Given the description of an element on the screen output the (x, y) to click on. 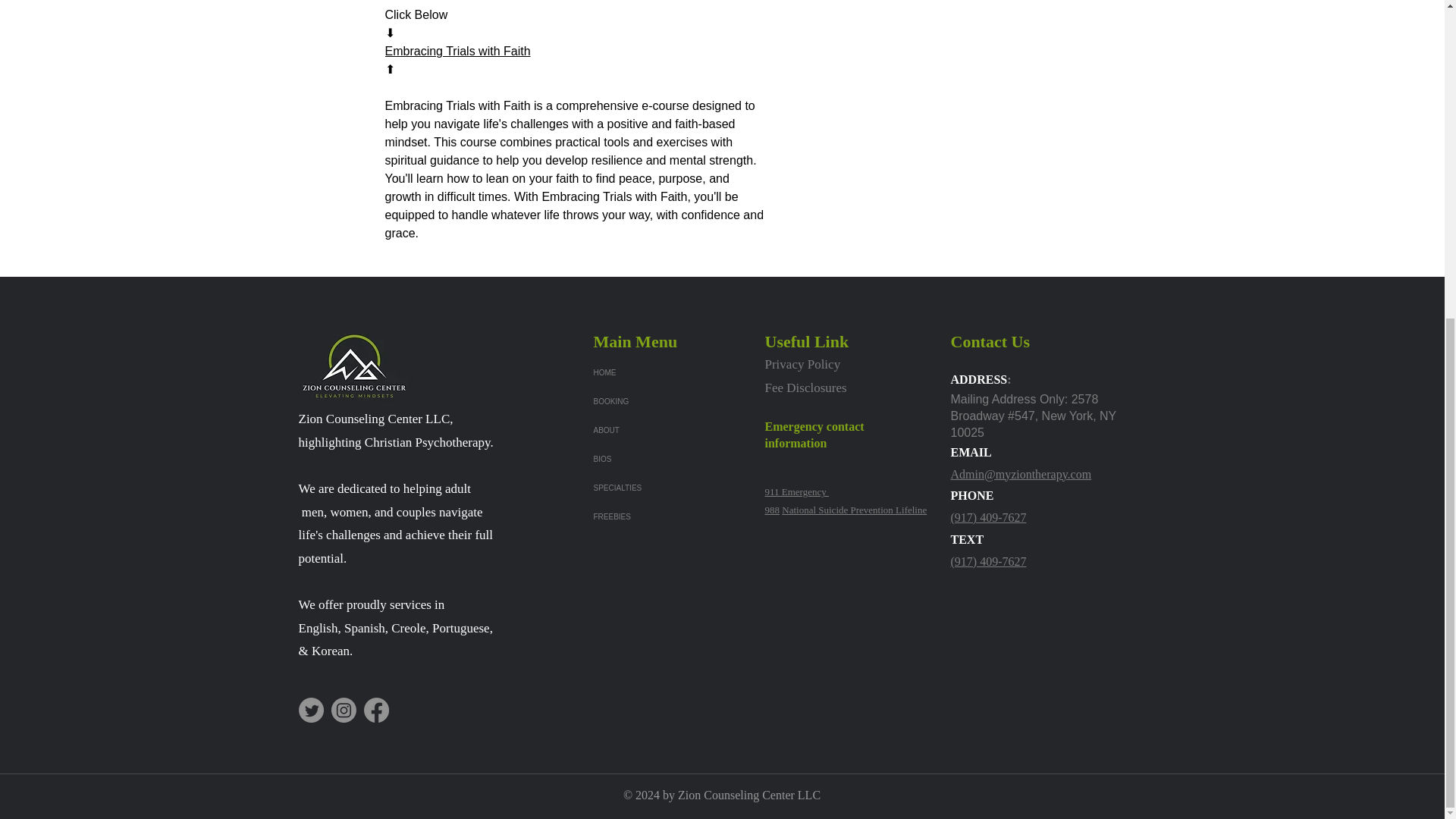
HOME (646, 372)
ABOUT (646, 430)
Logo-06.jpg (354, 366)
Embracing Trials with Faith (458, 51)
BOOKING (646, 401)
BIOS (646, 459)
